Given the description of an element on the screen output the (x, y) to click on. 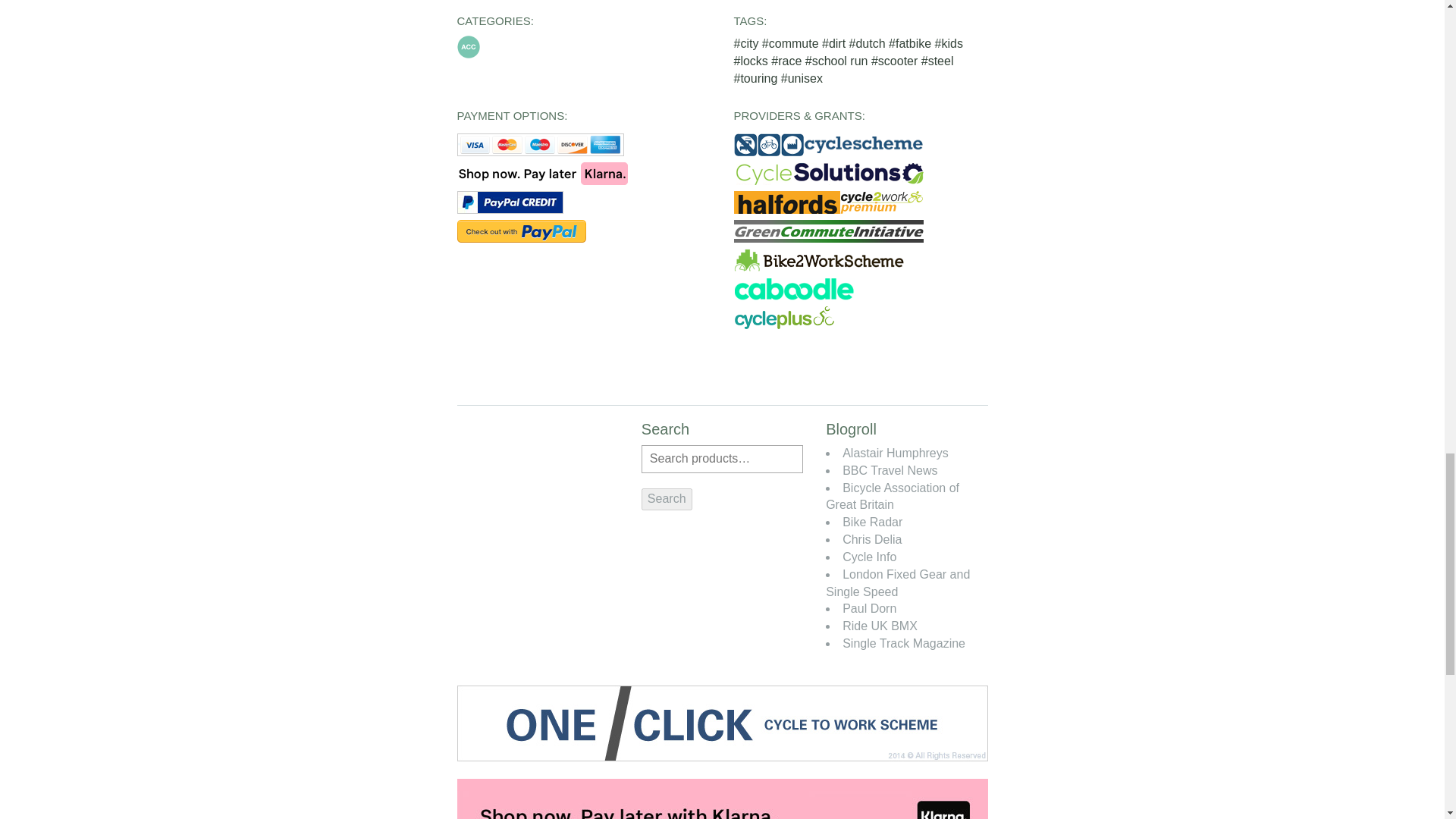
fatbike Tag (911, 42)
steel Tag (937, 60)
commute Tag (791, 42)
dutch Tag (868, 42)
touring Tag (756, 78)
city Tag (747, 42)
dirt Tag (835, 42)
locks Tag (752, 60)
race Tag (788, 60)
kids Tag (948, 42)
